Given the description of an element on the screen output the (x, y) to click on. 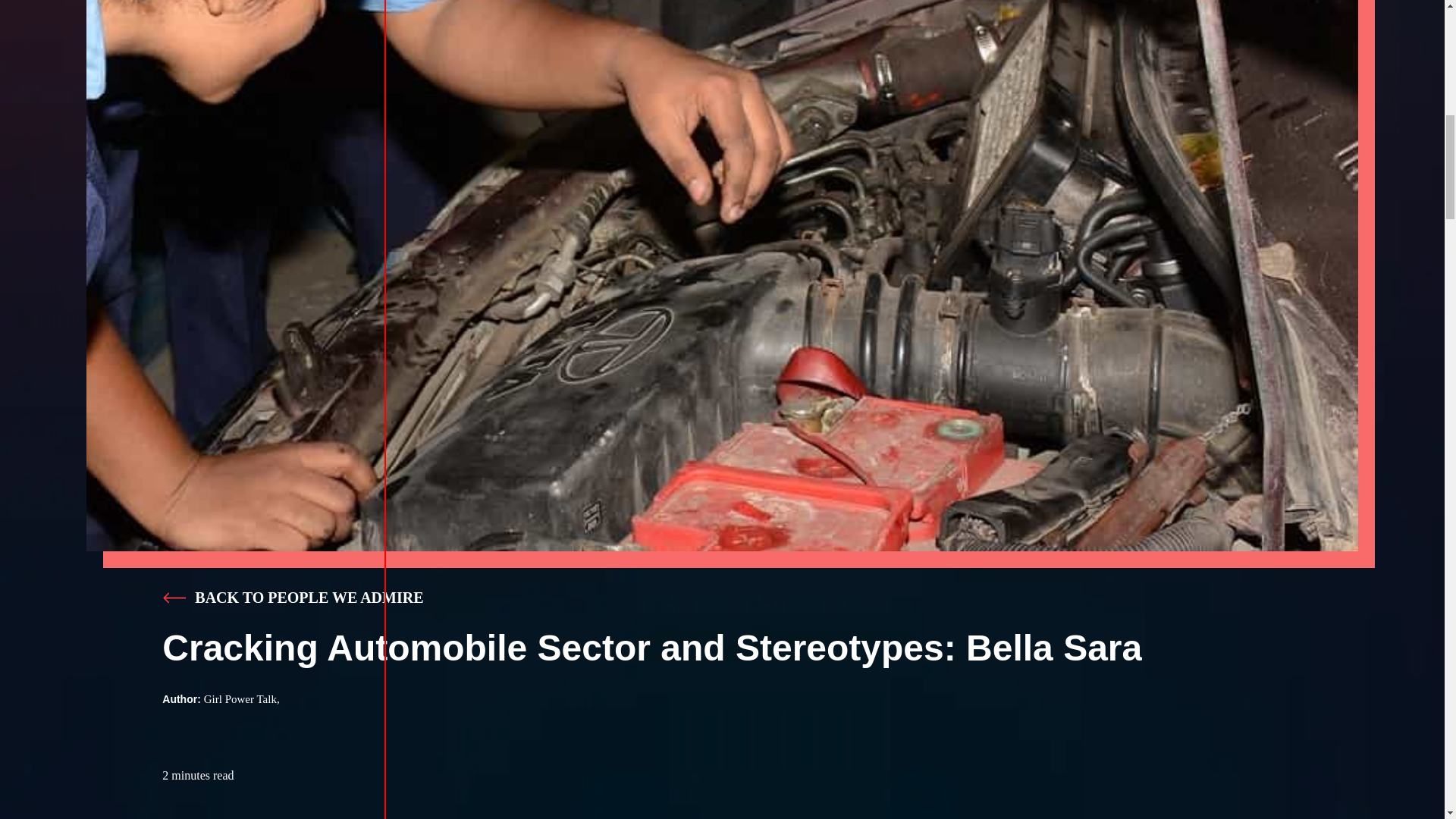
BACK TO PEOPLE WE ADMIRE (309, 597)
Girl Power Talk (241, 698)
